Given the description of an element on the screen output the (x, y) to click on. 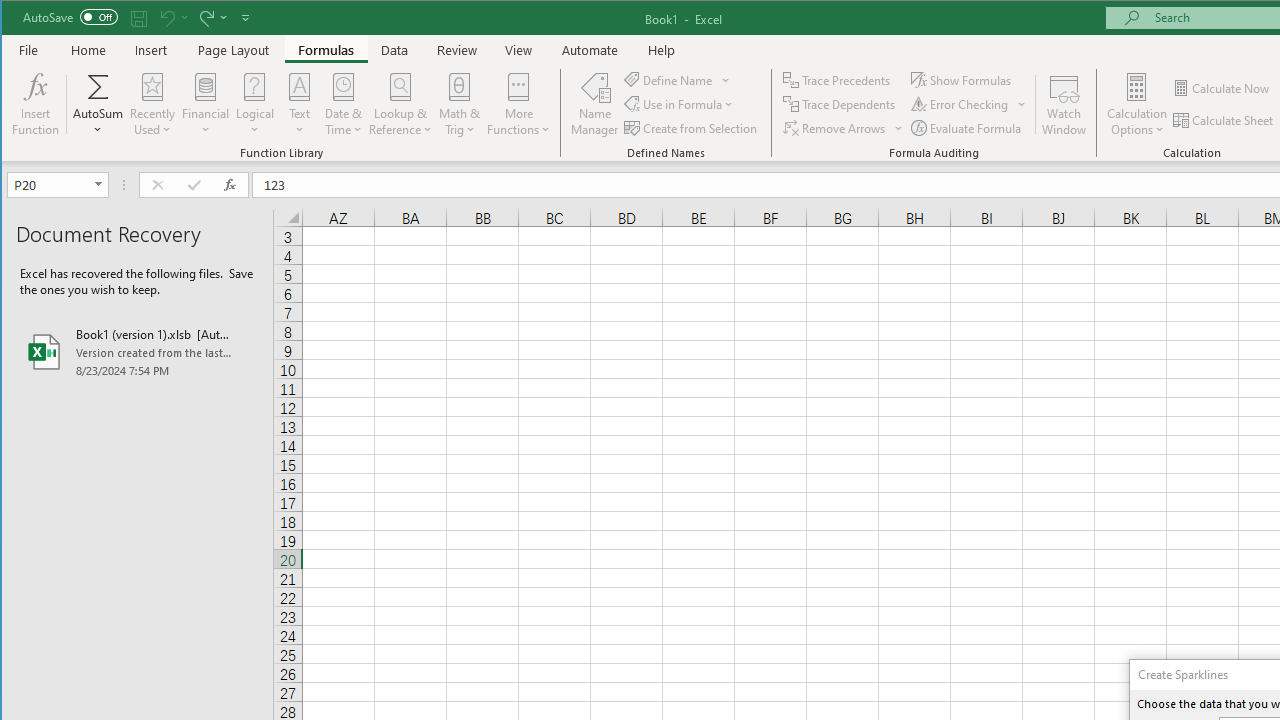
AutoSum (97, 104)
Date & Time (343, 104)
Financial (205, 104)
Evaluate Formula (967, 127)
Define Name... (669, 80)
Remove Arrows (835, 127)
Show Formulas (962, 80)
More Functions (518, 104)
Text (300, 104)
